Given the description of an element on the screen output the (x, y) to click on. 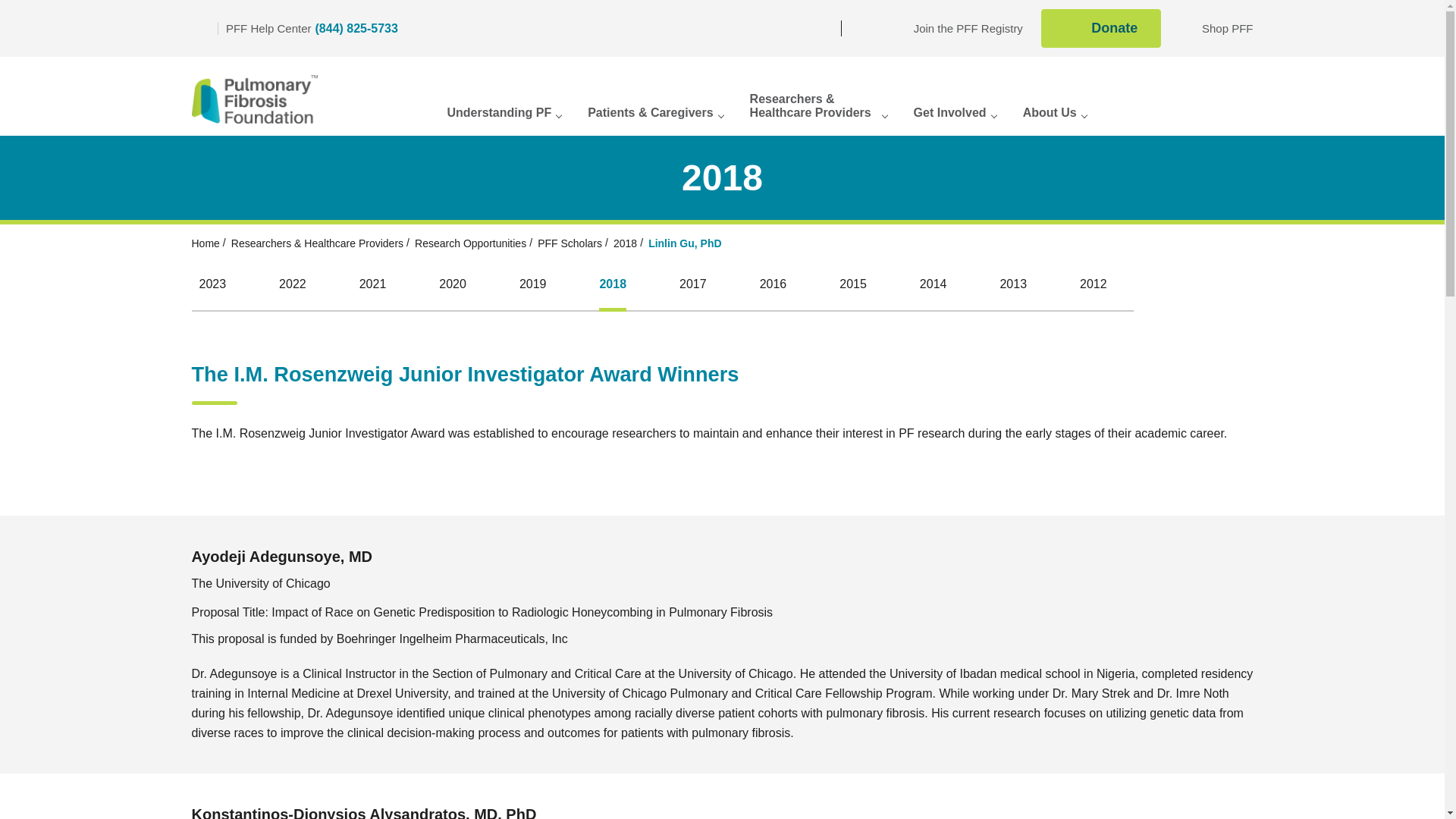
Join the PFF Registry (711, 28)
Understanding PF (1216, 28)
